Given the description of an element on the screen output the (x, y) to click on. 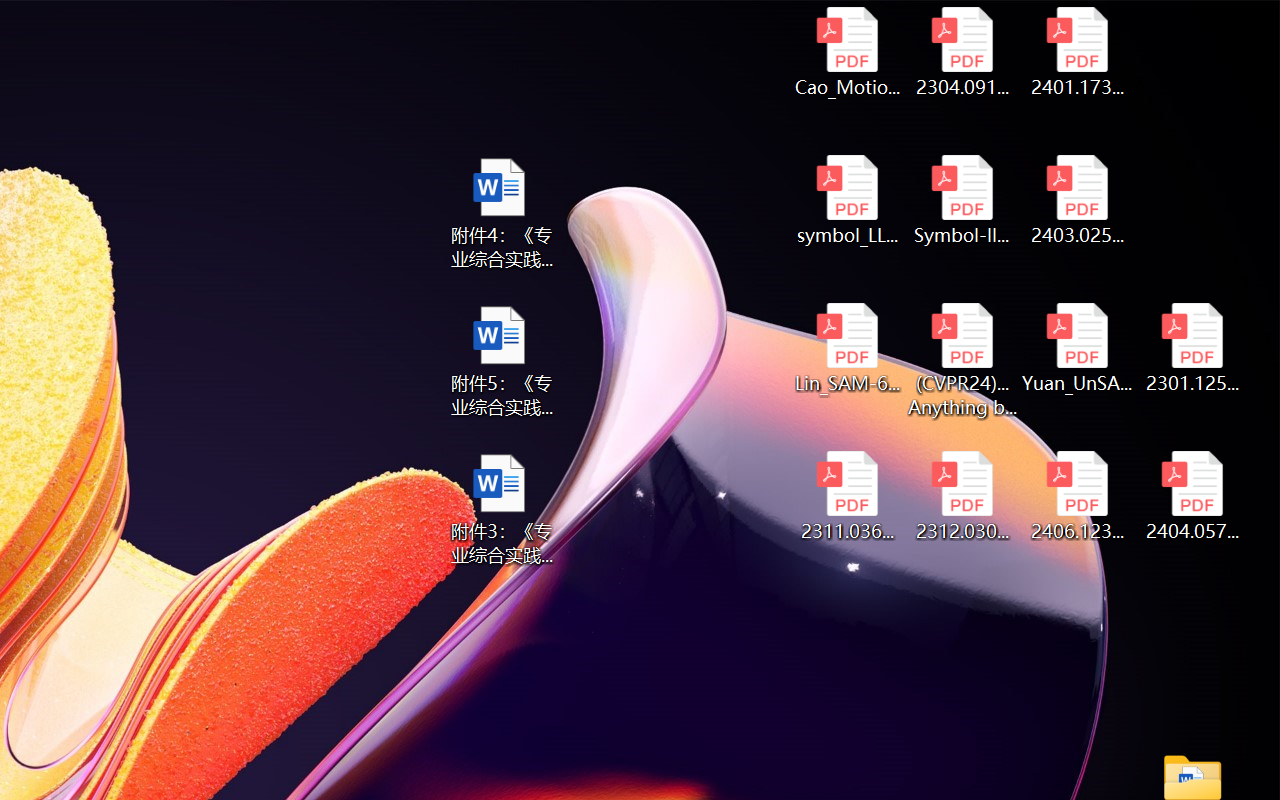
Symbol-llm-v2.pdf (962, 200)
2301.12597v3.pdf (1192, 348)
2304.09121v3.pdf (962, 52)
2406.12373v2.pdf (1077, 496)
2403.02502v1.pdf (1077, 200)
2311.03658v2.pdf (846, 496)
2401.17399v1.pdf (1077, 52)
(CVPR24)Matching Anything by Segmenting Anything.pdf (962, 360)
2312.03032v2.pdf (962, 496)
